Given the description of an element on the screen output the (x, y) to click on. 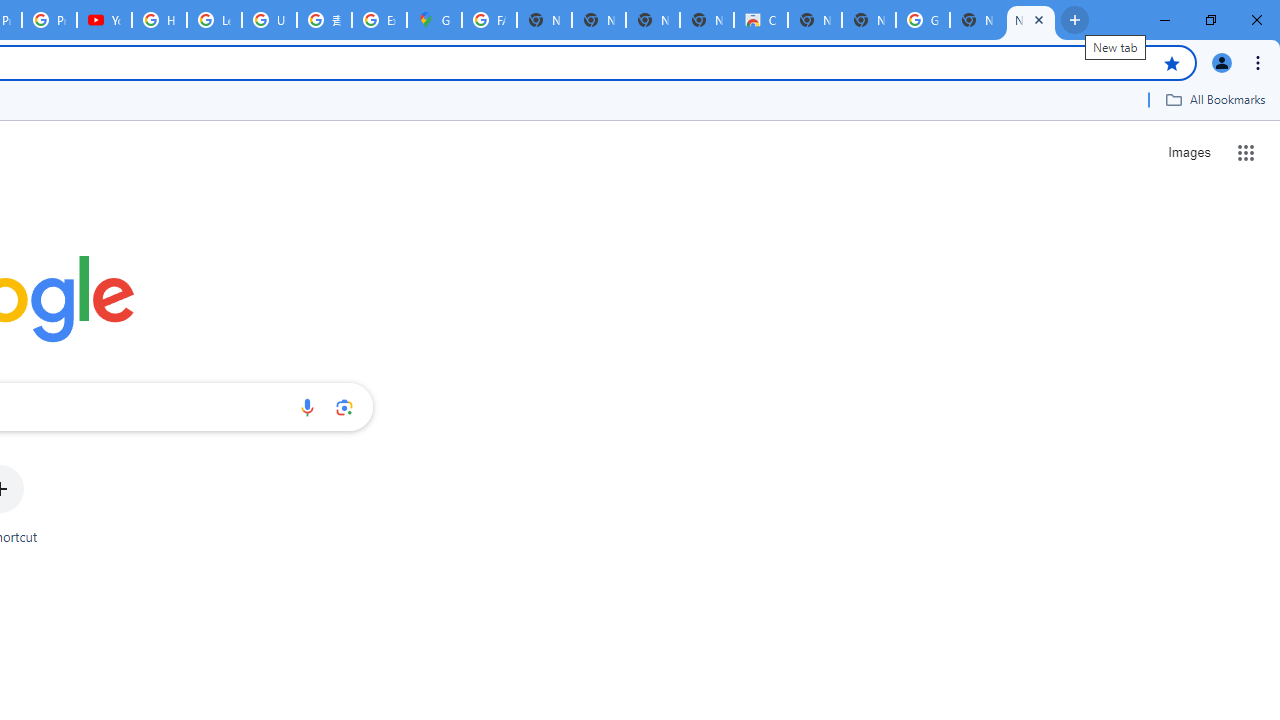
Chrome Web Store (760, 20)
New Tab (1030, 20)
How Chrome protects your passwords - Google Chrome Help (158, 20)
Explore new street-level details - Google Maps Help (379, 20)
YouTube (103, 20)
